Given the description of an element on the screen output the (x, y) to click on. 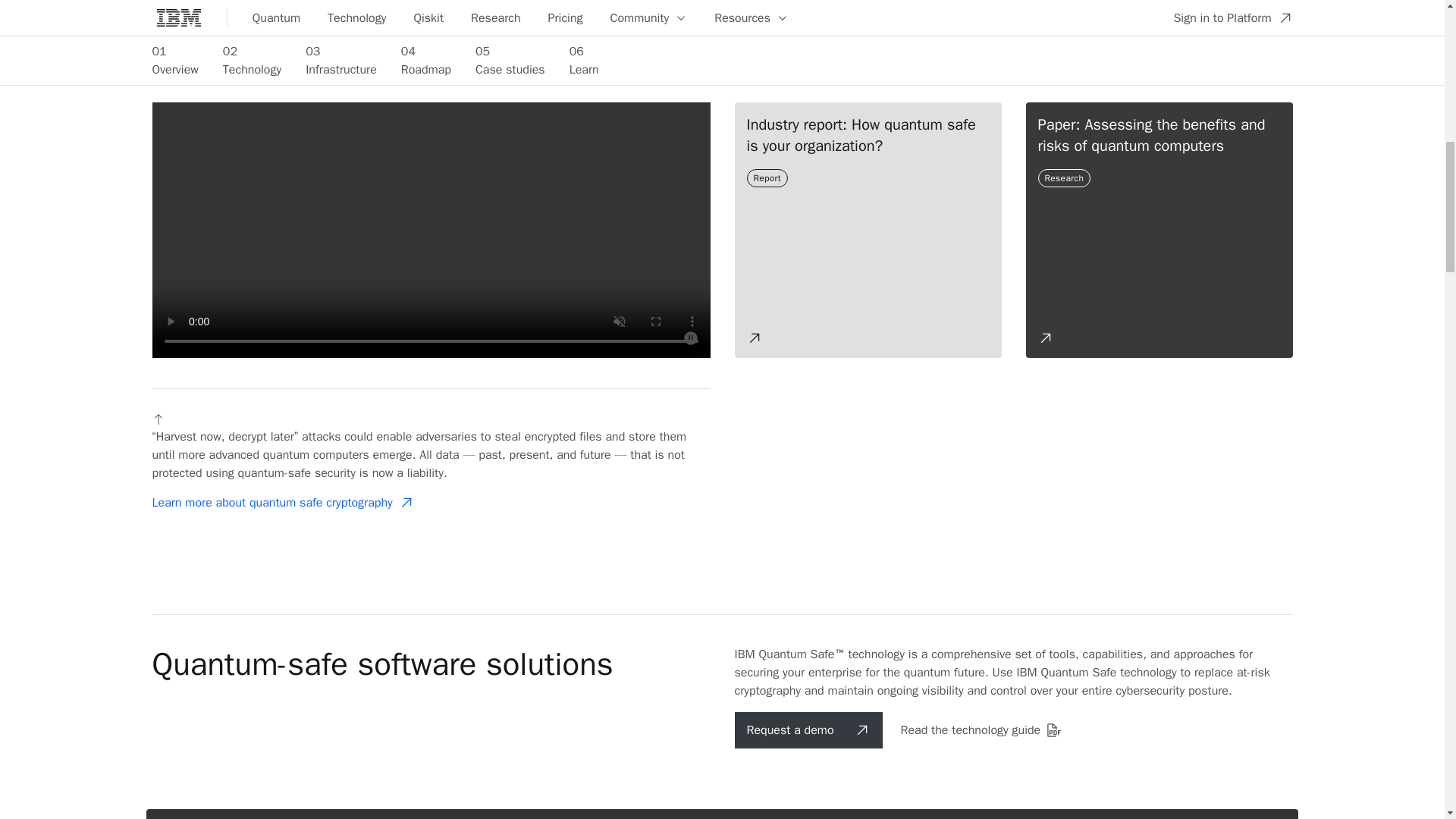
Research (1064, 177)
Request a demo (807, 729)
Report (767, 177)
Learn more about quantum safe cryptography (282, 502)
Read the technology guide (981, 729)
